Given the description of an element on the screen output the (x, y) to click on. 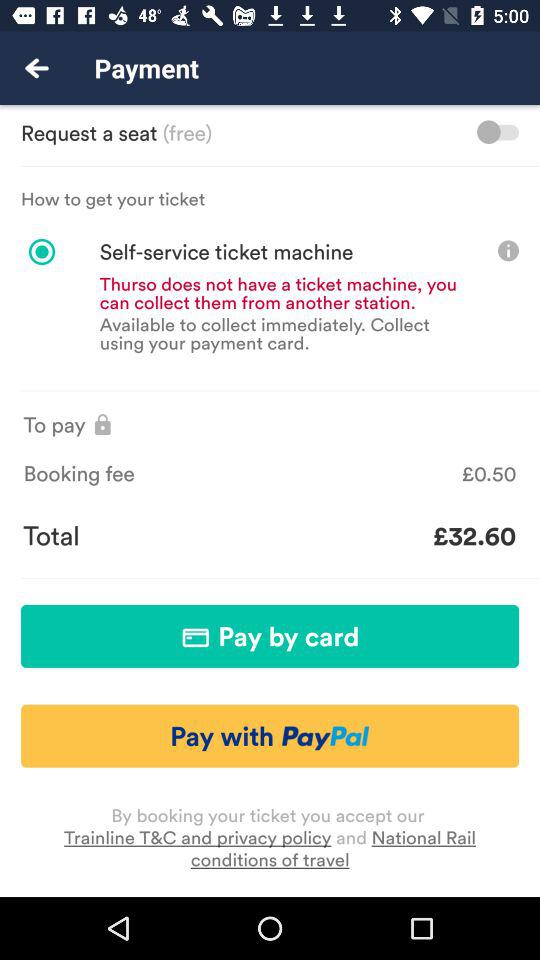
turn on the icon below the how to get item (198, 251)
